Given the description of an element on the screen output the (x, y) to click on. 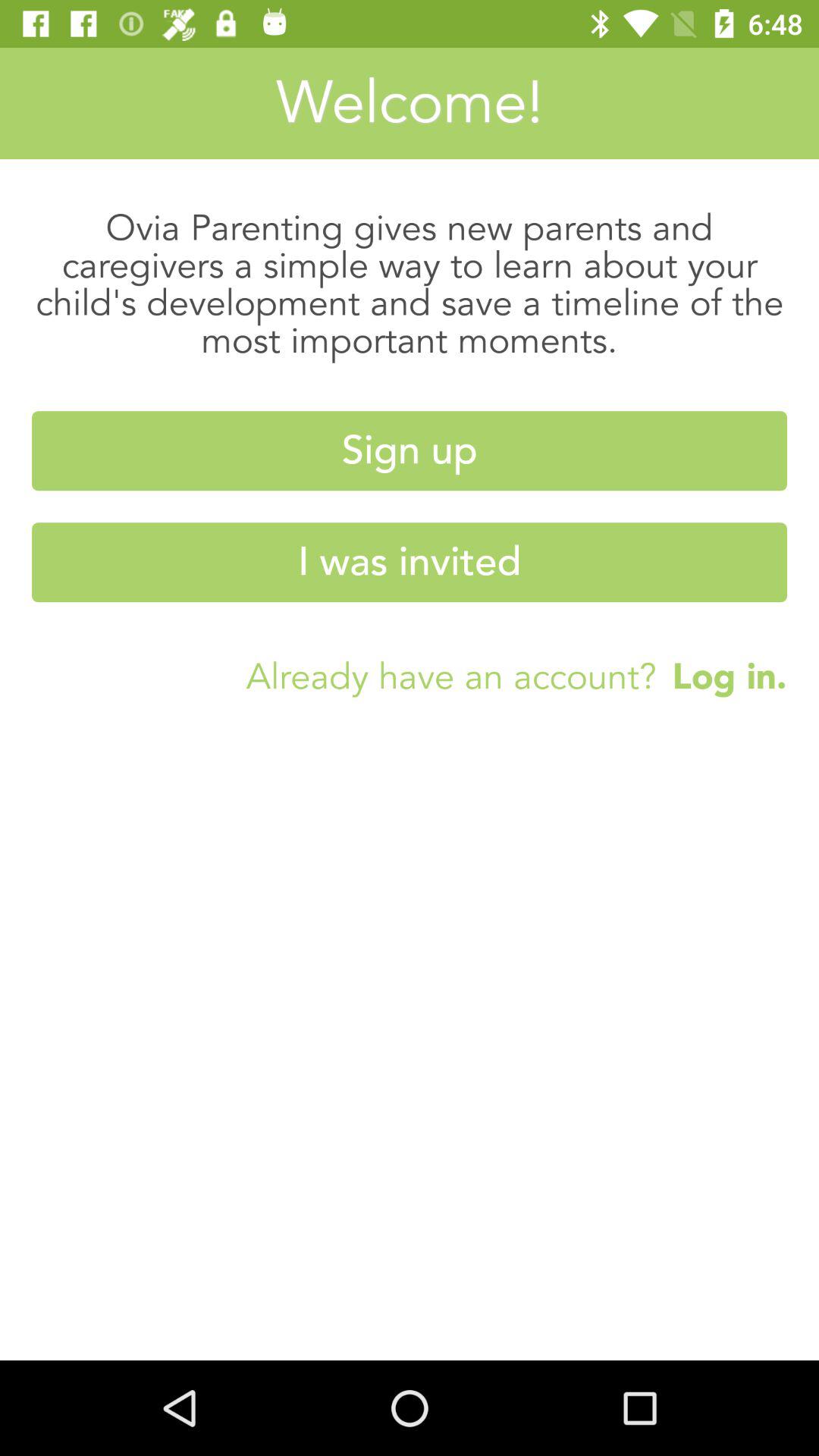
flip until i was invited icon (409, 562)
